Given the description of an element on the screen output the (x, y) to click on. 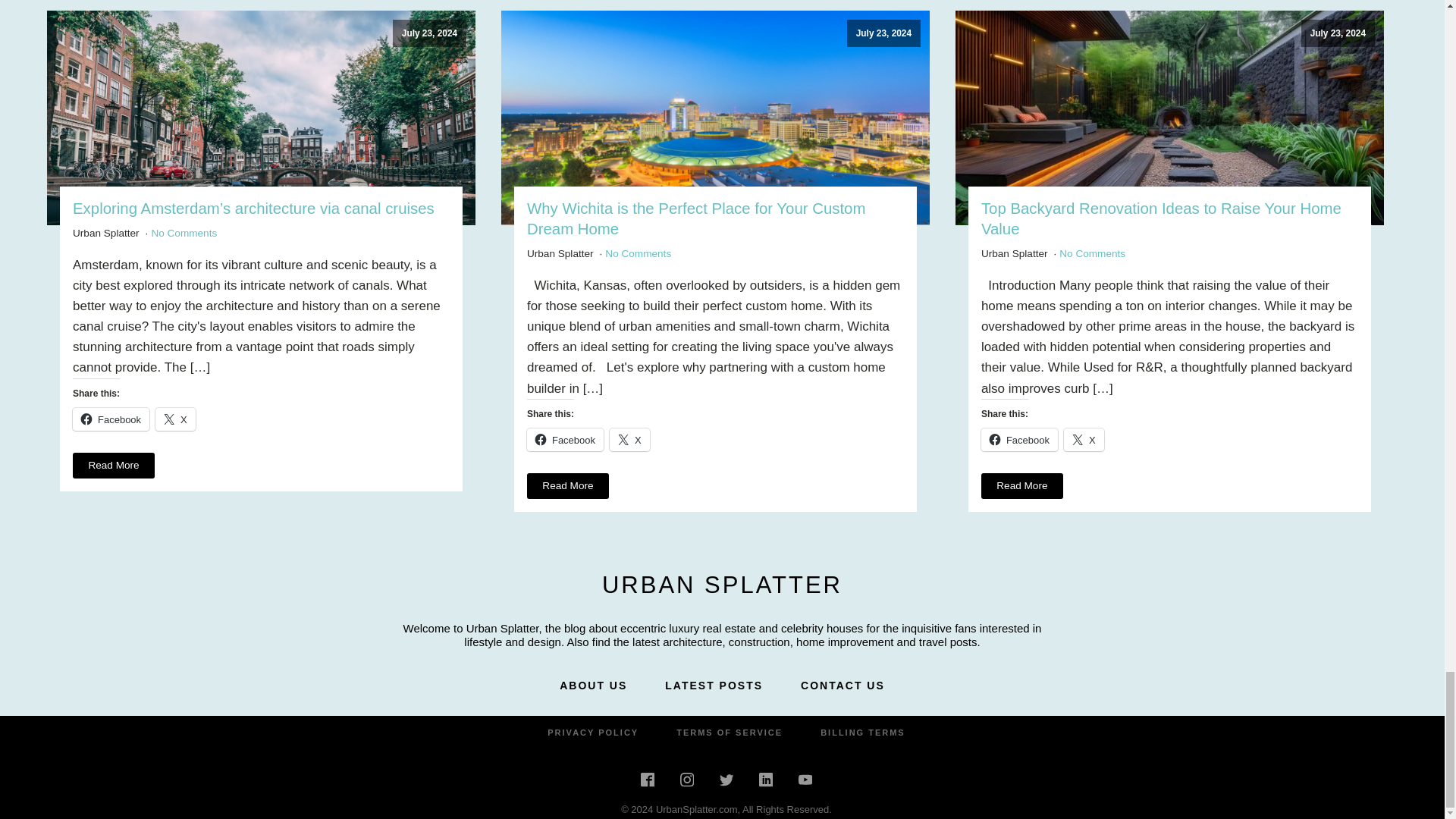
Click to share on X (1083, 439)
Click to share on Facebook (1019, 439)
Click to share on Facebook (565, 439)
Click to share on X (175, 418)
Click to share on Facebook (110, 418)
Click to share on X (629, 439)
